Given the description of an element on the screen output the (x, y) to click on. 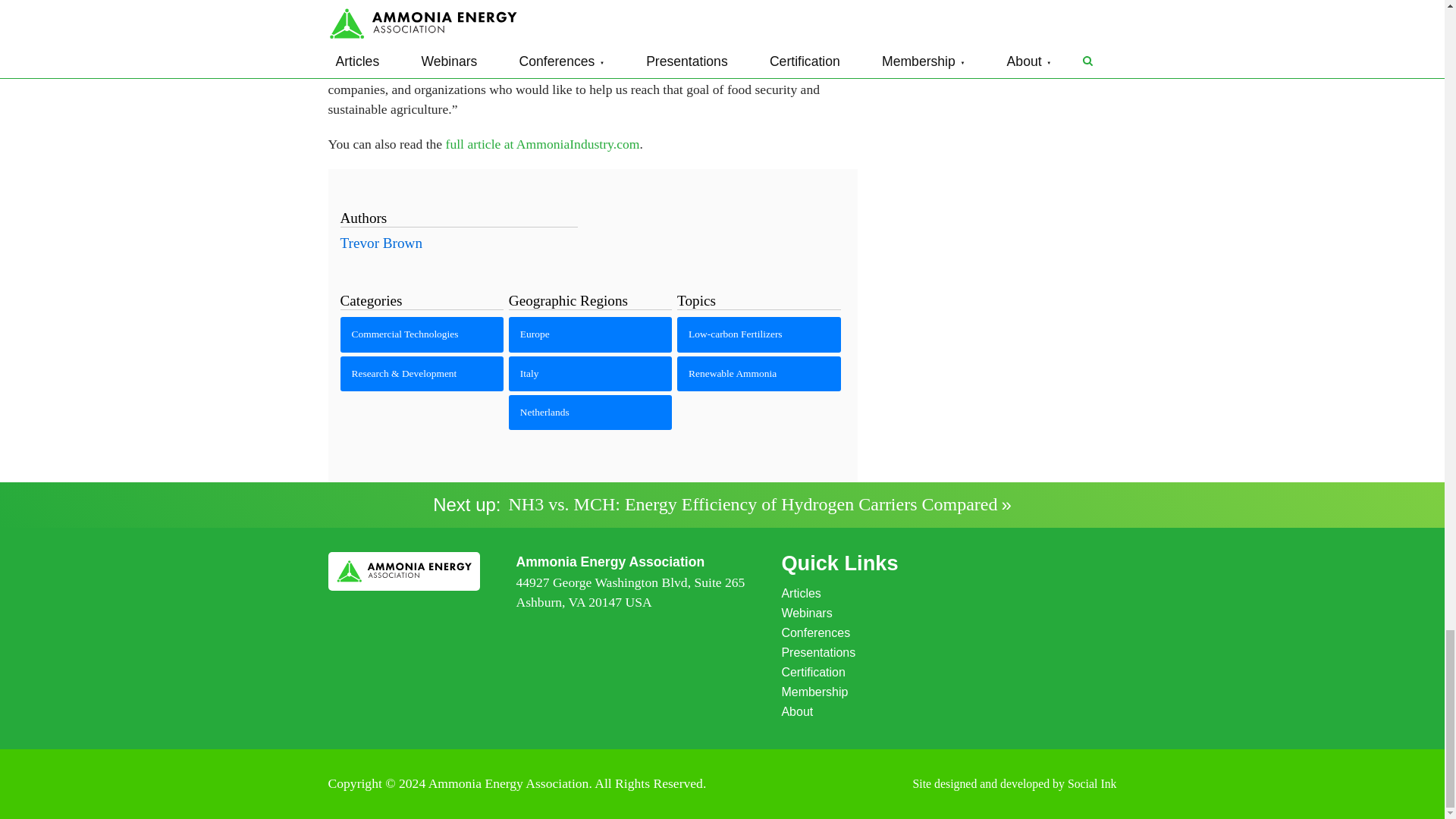
See other items in Italy Geographic Regions (590, 373)
See other items in Commercial Technologies Categories (421, 334)
See other items in Netherlands Geographic Regions (590, 411)
See other items in Europe Geographic Regions (590, 334)
See other items in Renewable Ammonia Topics (759, 373)
See other items in Low-carbon Fertilizers Topics (759, 334)
